Given the description of an element on the screen output the (x, y) to click on. 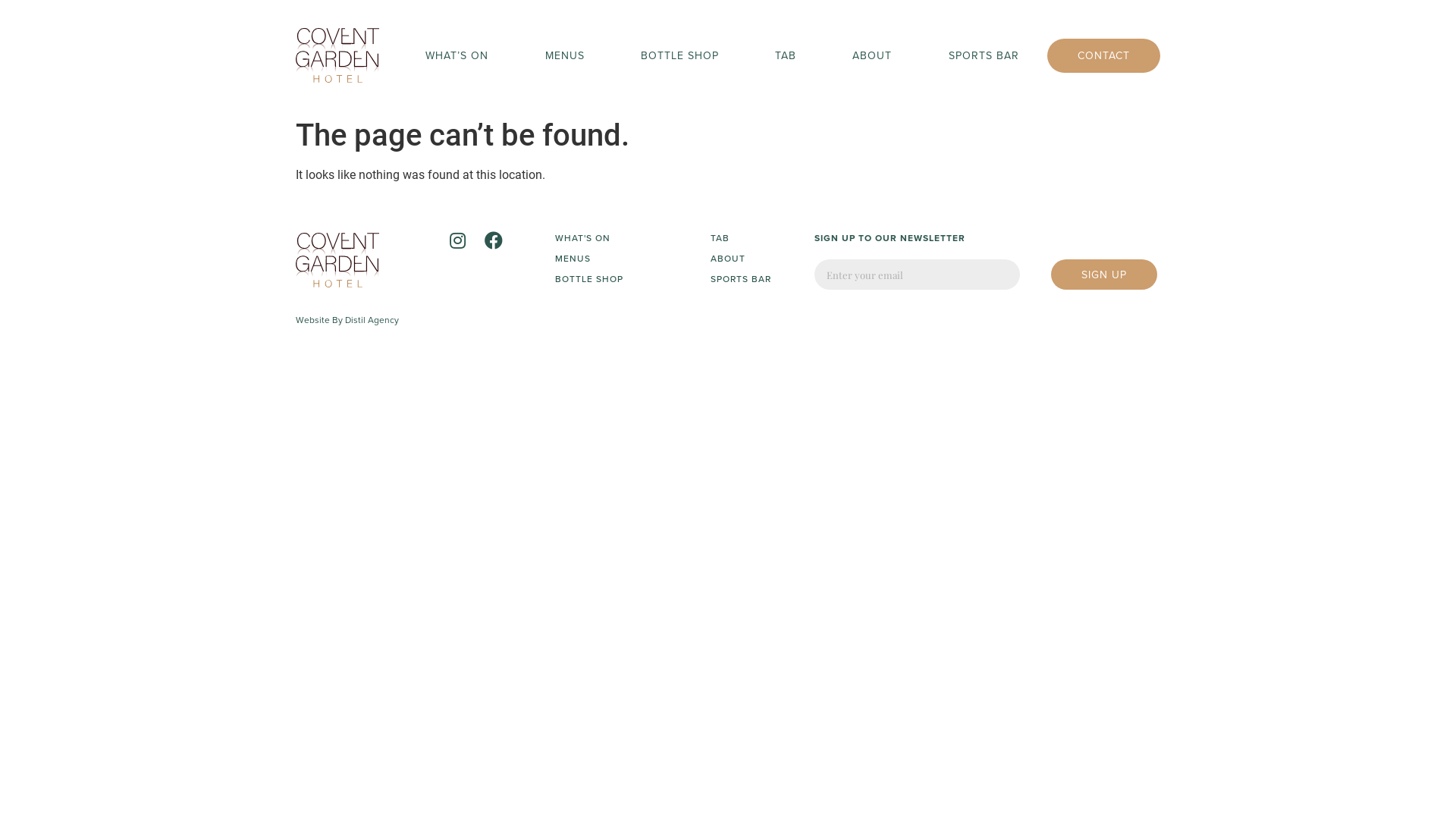
ABOUT Element type: text (872, 55)
CONTACT Element type: text (1103, 55)
ABOUT Element type: text (740, 258)
TAB Element type: text (785, 55)
SIGN UP Element type: text (1104, 274)
Distil Agency Element type: text (371, 319)
SPORTS BAR Element type: text (740, 279)
SPORTS BAR Element type: text (983, 55)
MENUS Element type: text (589, 258)
TAB Element type: text (740, 238)
BOTTLE SHOP Element type: text (679, 55)
BOTTLE SHOP Element type: text (589, 279)
MENUS Element type: text (564, 55)
WHAT'S ON Element type: text (589, 238)
